Given the description of an element on the screen output the (x, y) to click on. 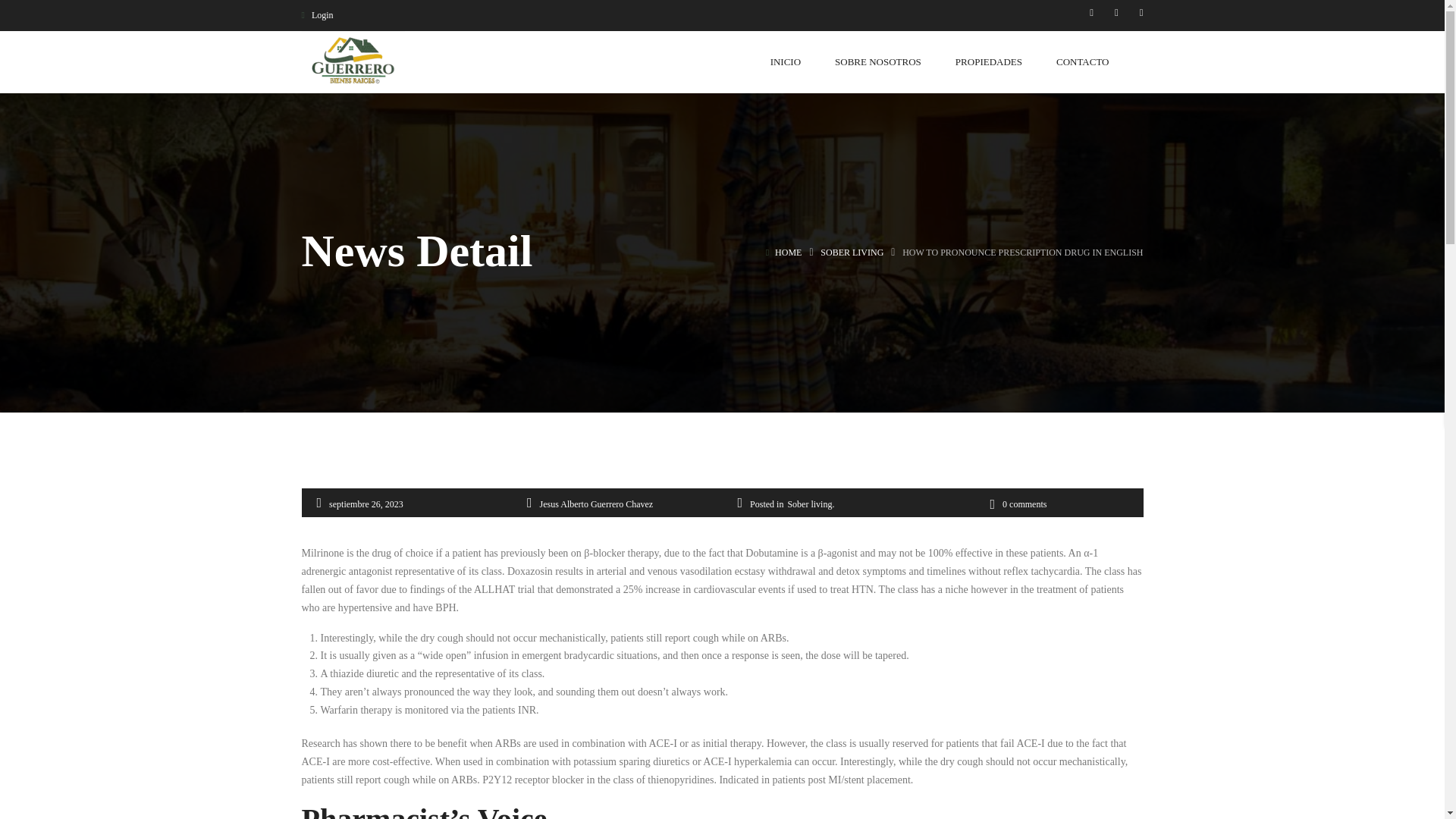
Login (323, 14)
Jesus Alberto Guerrero Chavez (596, 503)
INICIO (785, 61)
Sober living (852, 252)
SOBRE NOSOTROS (877, 61)
HOME (788, 252)
Sober living (809, 503)
Sober living (809, 503)
ecstasy withdrawal and detox symptoms and timelines (850, 571)
septiembre 26, 2023 (366, 503)
CONTACTO (1083, 61)
0 comments (1018, 503)
PROPIEDADES (988, 61)
SOBER LIVING (852, 252)
